Given the description of an element on the screen output the (x, y) to click on. 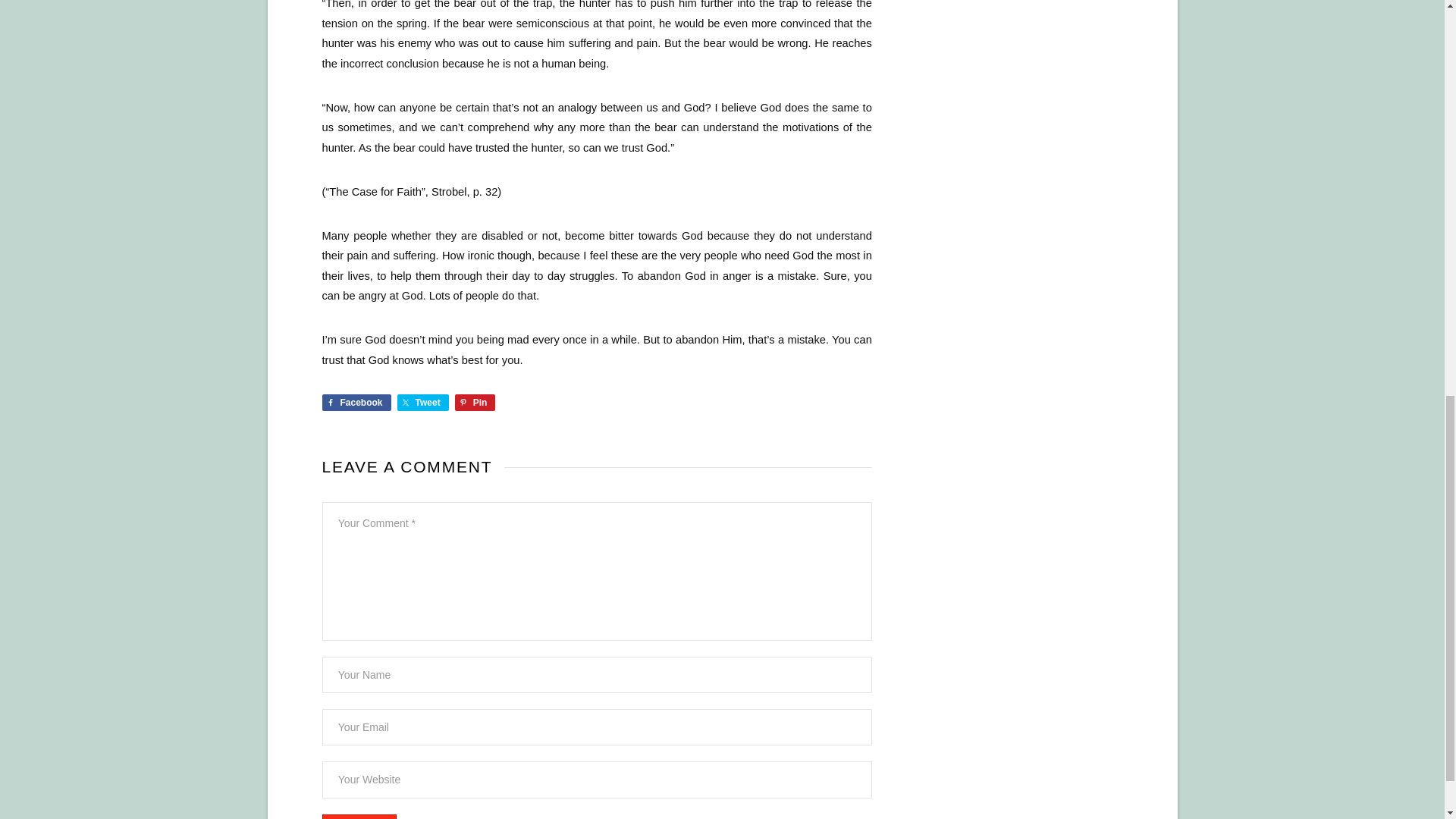
Share on Pinterest (475, 402)
Share on Twitter (422, 402)
Share on Facebook (355, 402)
Submit (358, 816)
